Given the description of an element on the screen output the (x, y) to click on. 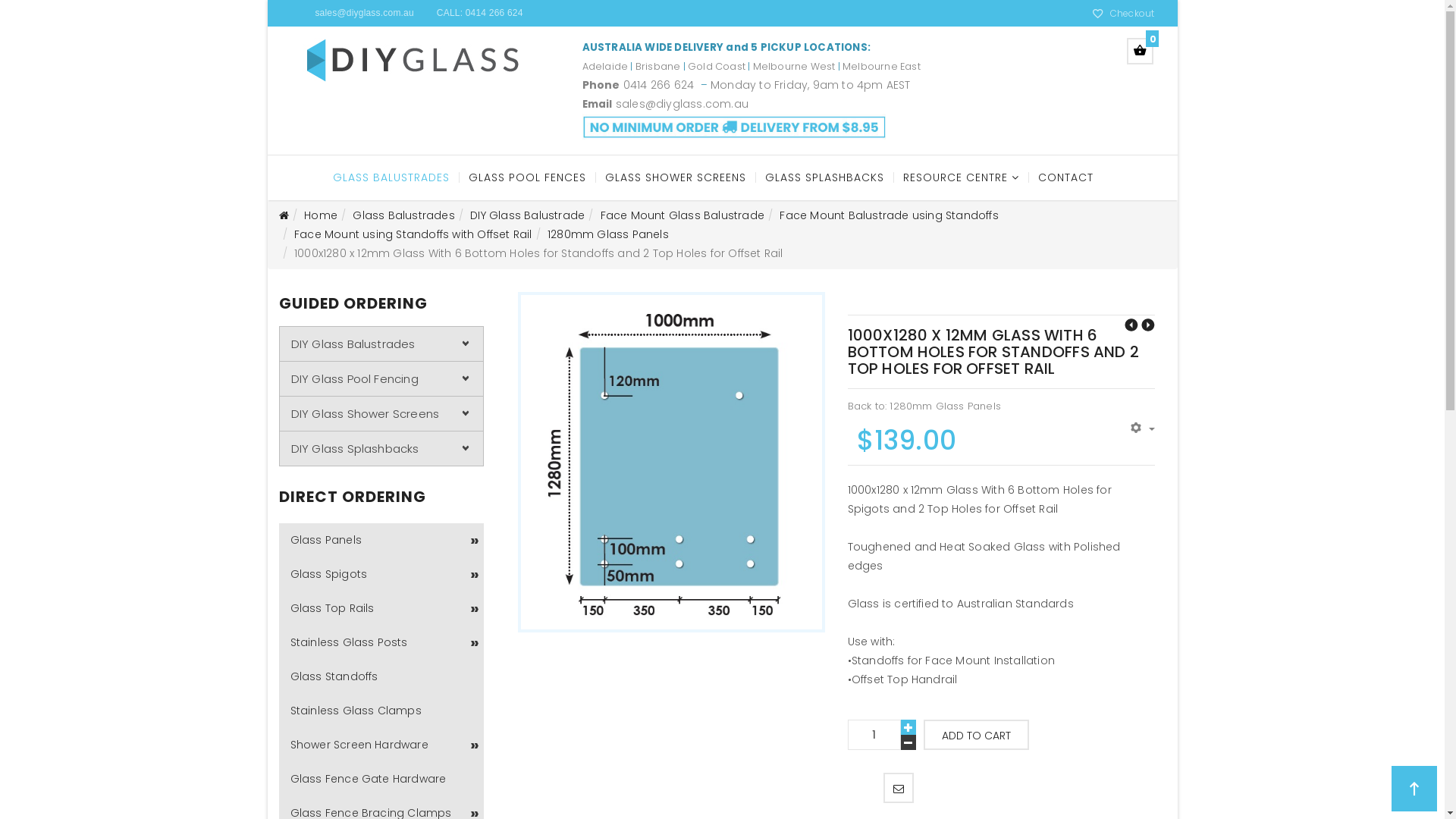
Glass Top Rails Element type: text (381, 608)
Face Mount using Standoffs with Offset Rail Element type: text (413, 233)
Glass Fence Gate Hardware Element type: text (381, 779)
Stainless Glass Posts Element type: text (381, 642)
GLASS BALUSTRADES Element type: text (390, 177)
Back to: 1280mm Glass Panels Element type: text (924, 405)
DIY Glass Splashbacks Element type: text (381, 448)
GLASS SHOWER SCREENS Element type: text (674, 177)
and 5 PICKUP LOCATIONS: Element type: text (797, 47)
Stainless Glass Clamps Element type: text (381, 710)
Email  Element type: text (598, 103)
DIY Glass Balustrades Element type: text (381, 343)
Adelaide Element type: text (605, 65)
RESOURCE CENTRE Element type: text (960, 177)
Checkout Element type: text (1132, 12)
Go to top Element type: hover (1414, 788)
Glass Carying Gloves Element type: text (1130, 324)
DIY Glass Balustrade Element type: text (527, 214)
GLASS POOL FENCES Element type: text (526, 177)
Brisbane Element type: text (657, 65)
Glass Balustrades Element type: text (403, 214)
sales@diyglass.com.au Element type: text (363, 12)
DIY Glass Pool Fencing Element type: text (381, 377)
Glass Standoffs Element type: text (381, 676)
Gold Coast Element type: text (716, 65)
Add to Cart Element type: text (976, 734)
Face Mount Glass Balustrade Element type: text (682, 214)
Face Mount Balustrade using Standoffs Element type: text (888, 214)
Home Element type: text (320, 214)
AUSTRALIA WIDE DELIVERY Element type: text (654, 47)
Shower Screen Hardware Element type: text (381, 745)
1280mm Glass Panels Element type: text (607, 233)
Glass Panels Element type: text (381, 540)
CONTACT Element type: text (1065, 177)
DIY Glass Shower Screens Element type: text (381, 412)
GLASS SPLASHBACKS Element type: text (824, 177)
sales@diyglass.com.au Element type: text (681, 103)
Add to Cart Element type: hover (976, 734)
Melbourne East Element type: text (881, 65)
Email to friend Element type: text (898, 787)
Melbourne West Element type: text (794, 65)
Glass Spigots Element type: text (381, 574)
